Given the description of an element on the screen output the (x, y) to click on. 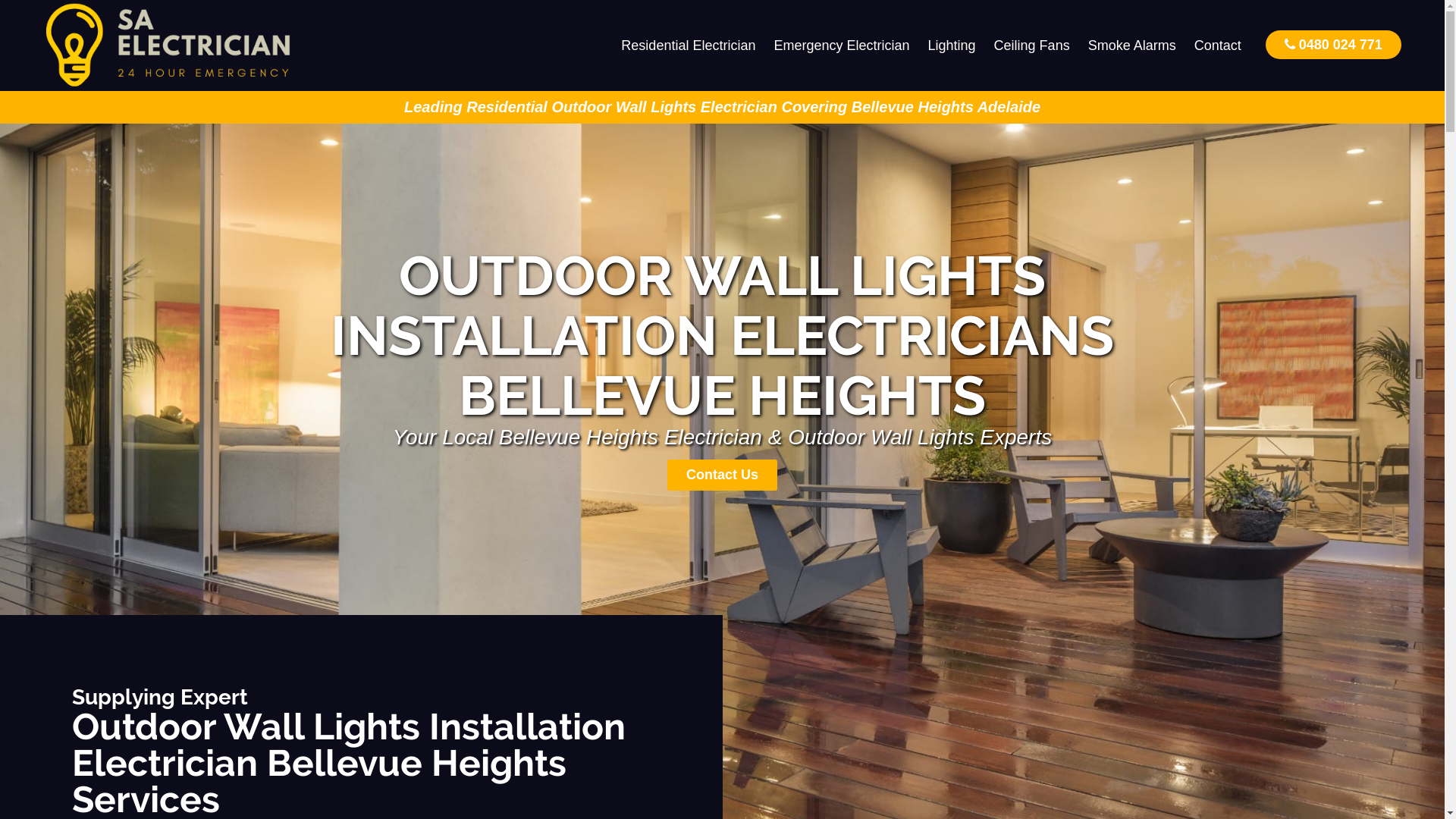
Ceiling Fans Element type: text (1032, 45)
Emergency Electrician Element type: text (841, 45)
Smoke Alarms Element type: text (1132, 45)
0480 024 771 Element type: text (1333, 44)
Contact Us Element type: text (722, 474)
Residential Electrician Element type: text (687, 45)
Contact Element type: text (1217, 45)
Lighting Element type: text (952, 45)
